Given the description of an element on the screen output the (x, y) to click on. 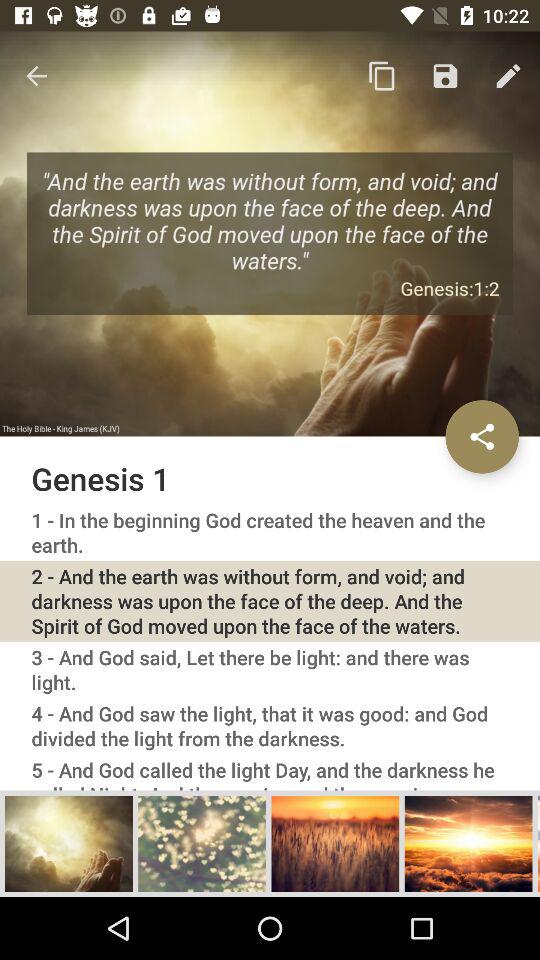
swipe until the genesis 1 icon (269, 478)
